Given the description of an element on the screen output the (x, y) to click on. 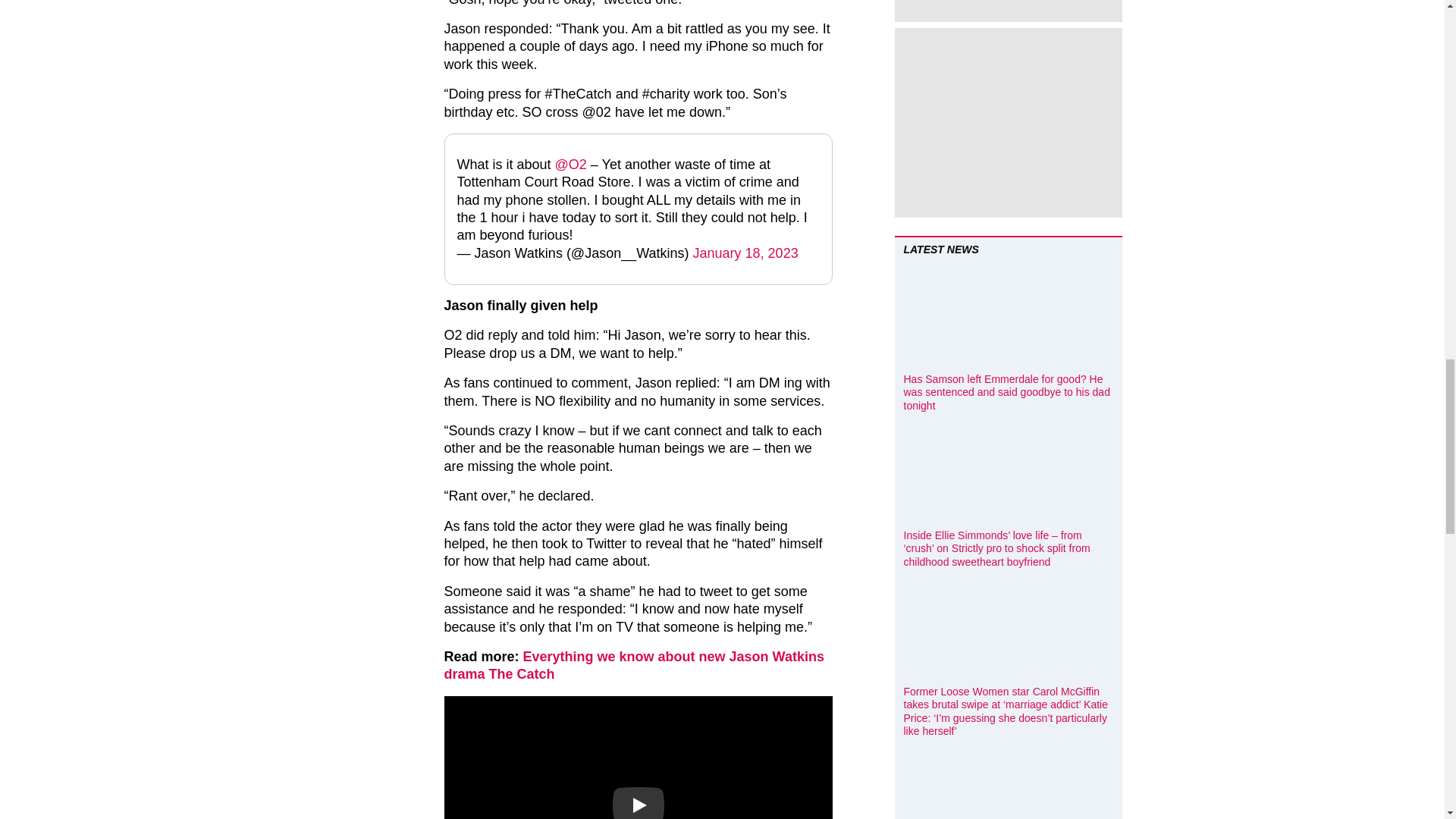
Everything we know about new Jason Watkins drama The Catch (634, 665)
January 18, 2023 (745, 253)
Play Video (637, 803)
